Given the description of an element on the screen output the (x, y) to click on. 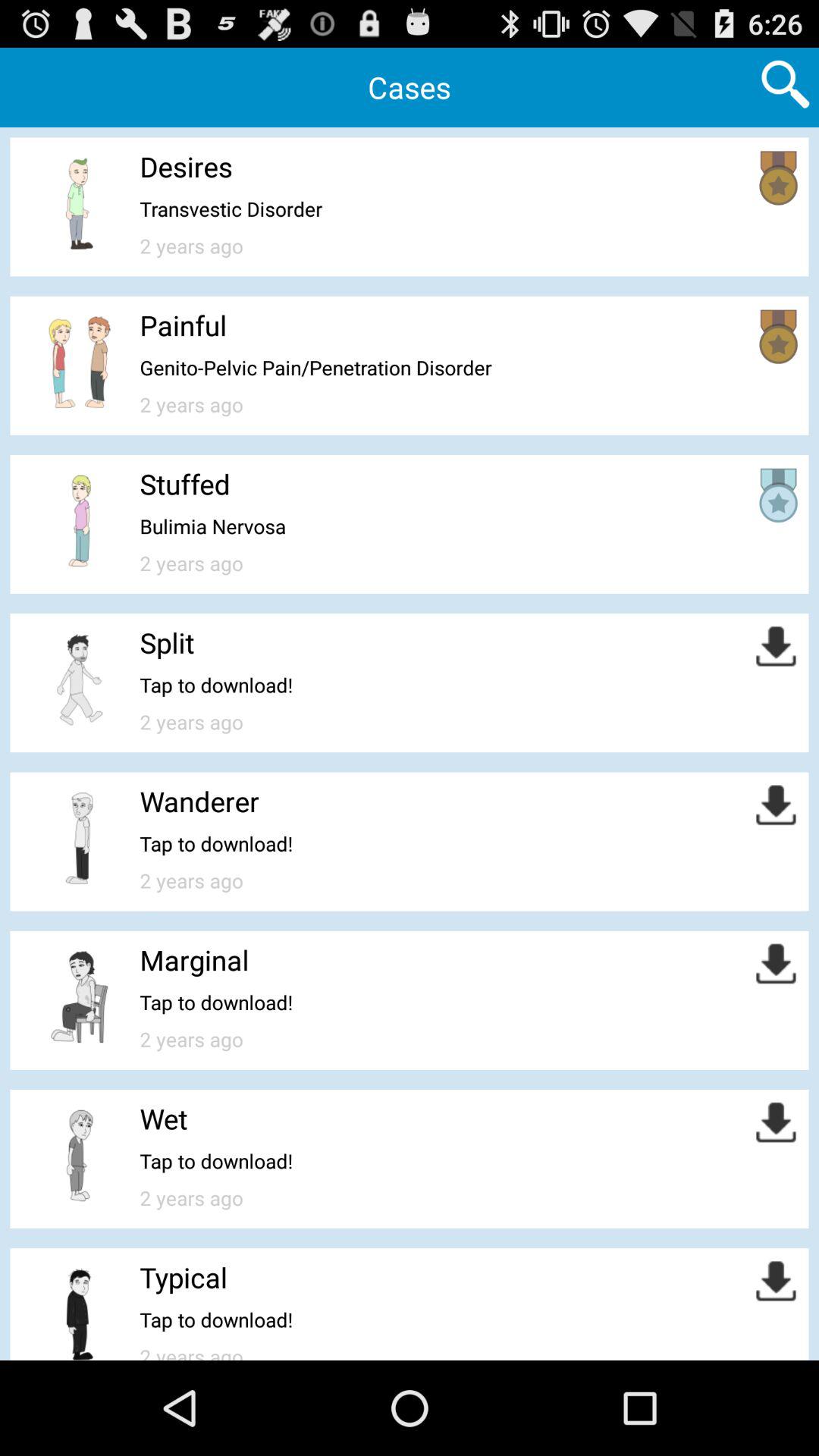
tap the desires (185, 166)
